Given the description of an element on the screen output the (x, y) to click on. 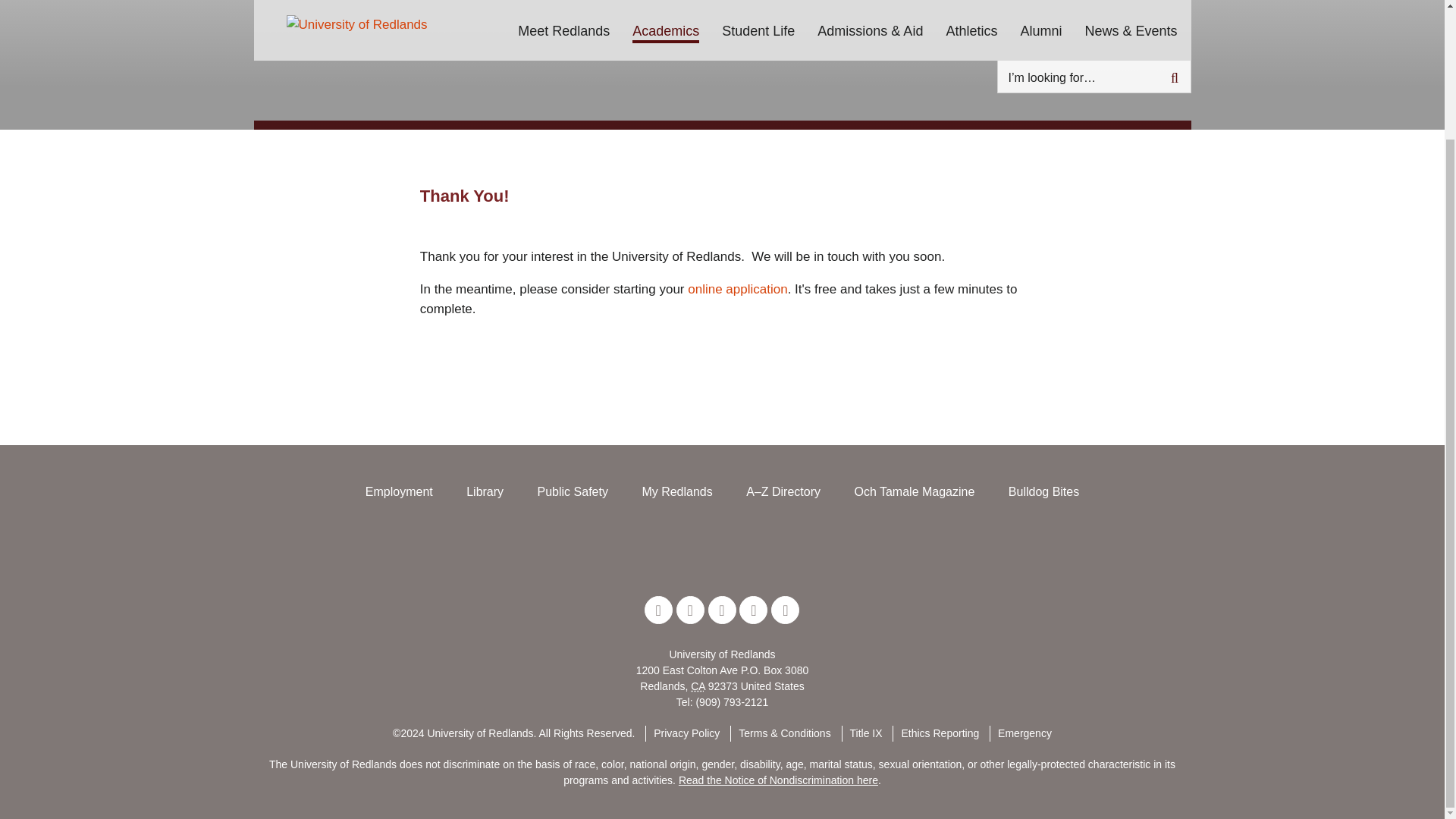
Instagram (753, 610)
LinkedIn (721, 610)
Privacy Policy (682, 733)
Och Tamale Magazine (913, 491)
online application (737, 288)
Youtube (785, 610)
Public Safety (572, 491)
Bulldog Bites (1043, 491)
Library (484, 491)
My Redlands (676, 491)
Facebook (690, 610)
California (697, 686)
Twitter (658, 610)
Employment (398, 491)
